Given the description of an element on the screen output the (x, y) to click on. 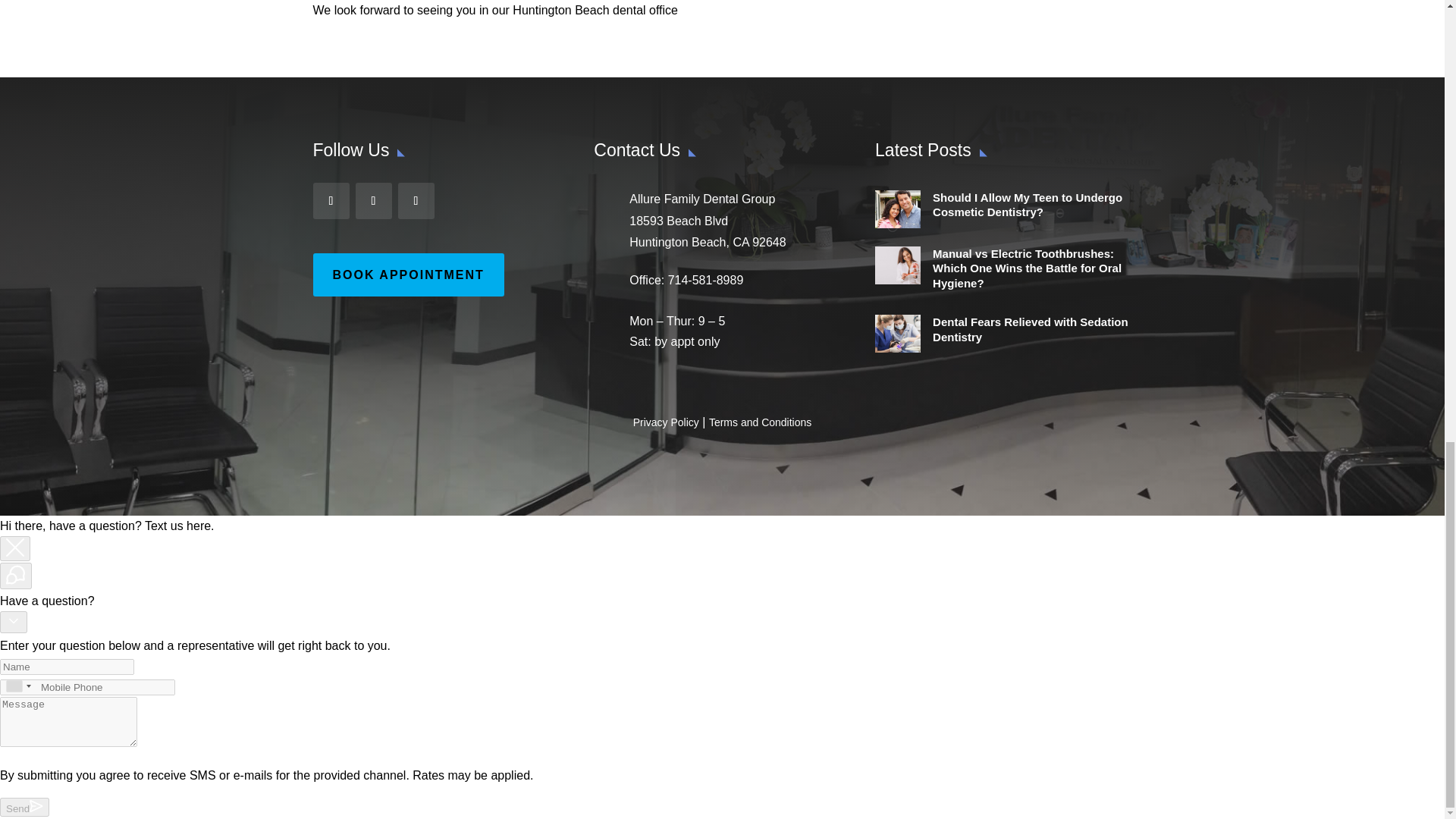
Follow on Facebook (331, 200)
Follow on RSS (415, 200)
Follow on Twitter (373, 200)
